Given the description of an element on the screen output the (x, y) to click on. 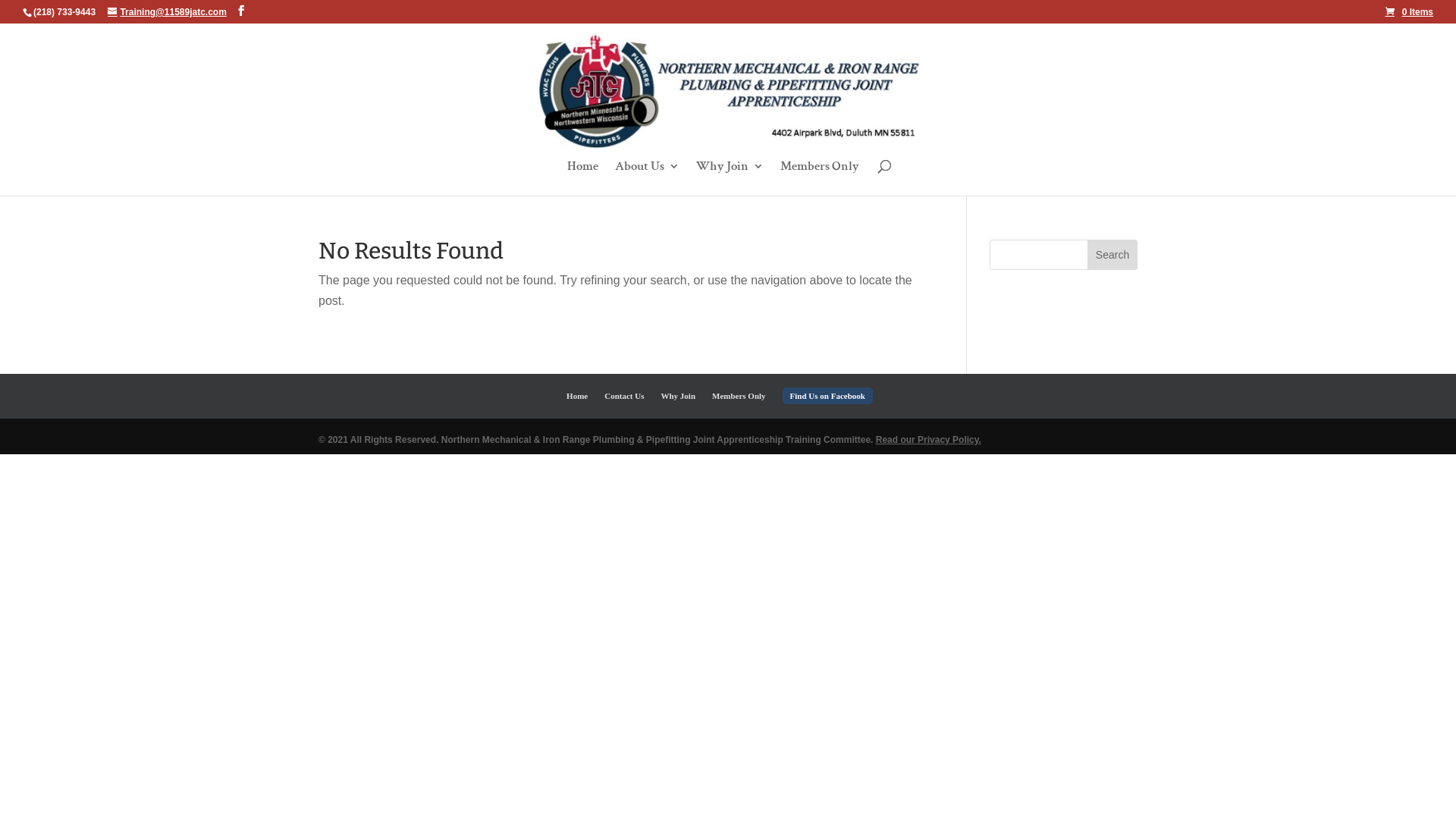
Why Join Element type: text (729, 177)
Members Only Element type: text (738, 395)
Why Join Element type: text (677, 395)
Search Element type: text (1112, 254)
Home Element type: text (576, 395)
Find Us on Facebook Element type: text (827, 395)
0 Items Element type: text (1409, 11)
Members Only Element type: text (818, 177)
Read our Privacy Policy. Element type: text (928, 439)
Training@11589jatc.com Element type: text (166, 11)
About Us Element type: text (646, 177)
Home Element type: text (582, 177)
Contact Us Element type: text (623, 395)
